Given the description of an element on the screen output the (x, y) to click on. 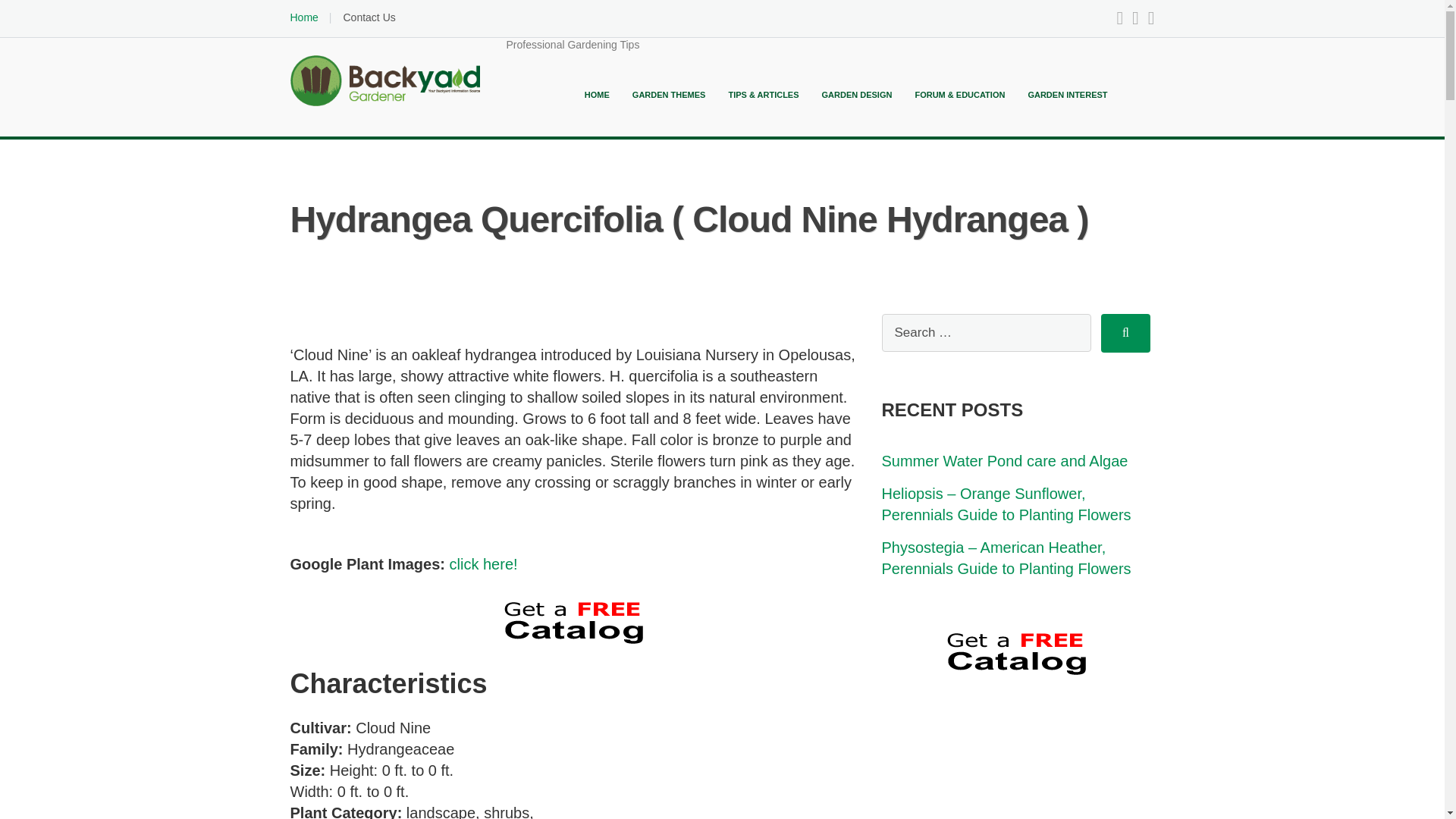
Home (303, 17)
GARDEN THEMES (668, 94)
GARDEN DESIGN (857, 94)
HOME (597, 94)
Contact Us (368, 17)
Search for: (985, 332)
